Given the description of an element on the screen output the (x, y) to click on. 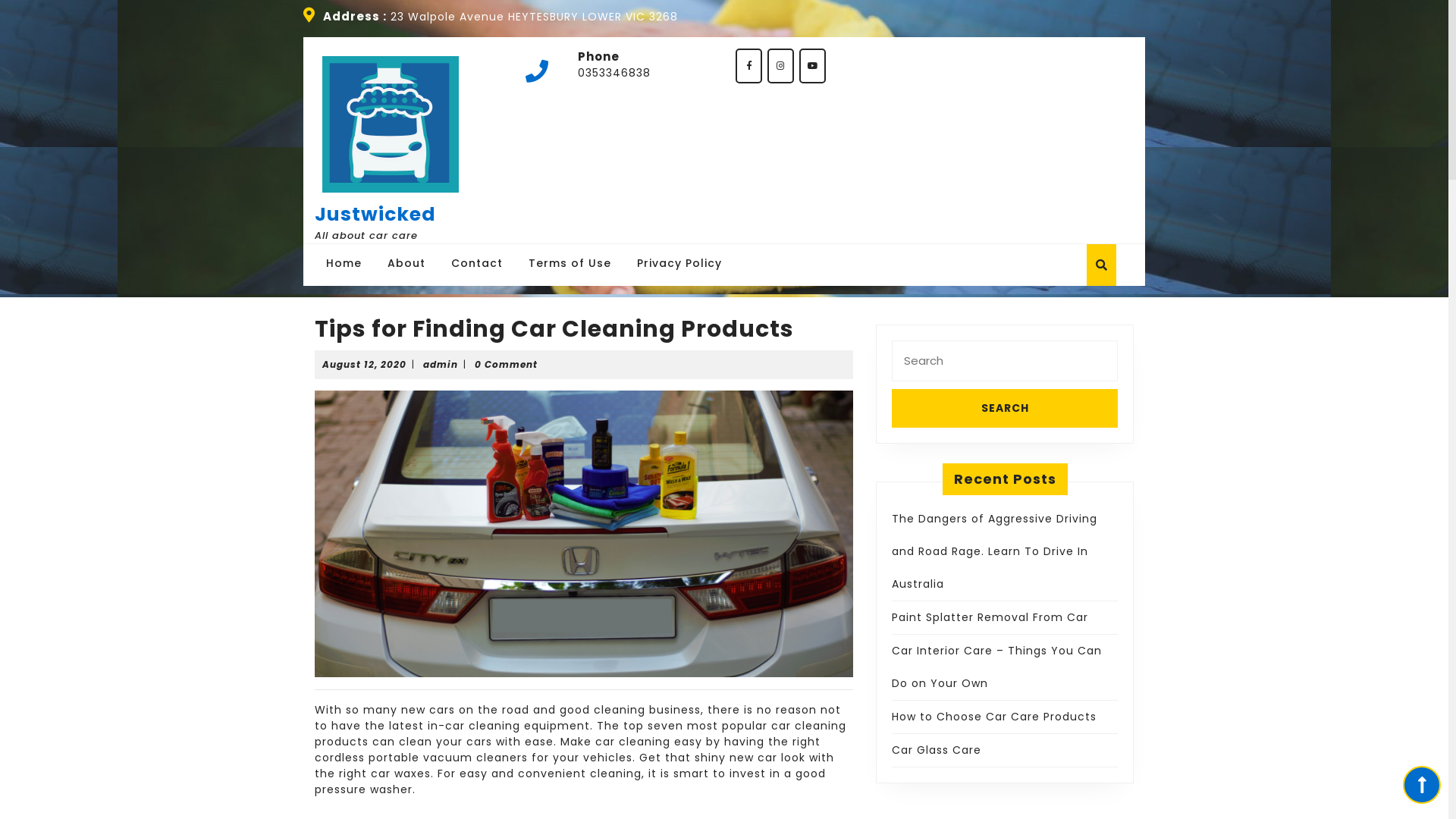
Terms of Use Element type: text (569, 262)
Instagram Element type: text (781, 64)
Home Element type: text (343, 262)
Paint Splatter Removal From Car Element type: text (989, 616)
About Element type: text (406, 262)
Contact Element type: text (476, 262)
Youtube Element type: text (813, 64)
Justwicked Element type: text (375, 213)
Search Element type: text (1004, 408)
admin
admin Element type: text (440, 363)
How to Choose Car Care Products Element type: text (993, 716)
Privacy Policy Element type: text (679, 262)
Facebook Element type: text (749, 64)
August 12, 2020
August 12, 2020 Element type: text (364, 363)
Car Glass Care Element type: text (936, 749)
